Given the description of an element on the screen output the (x, y) to click on. 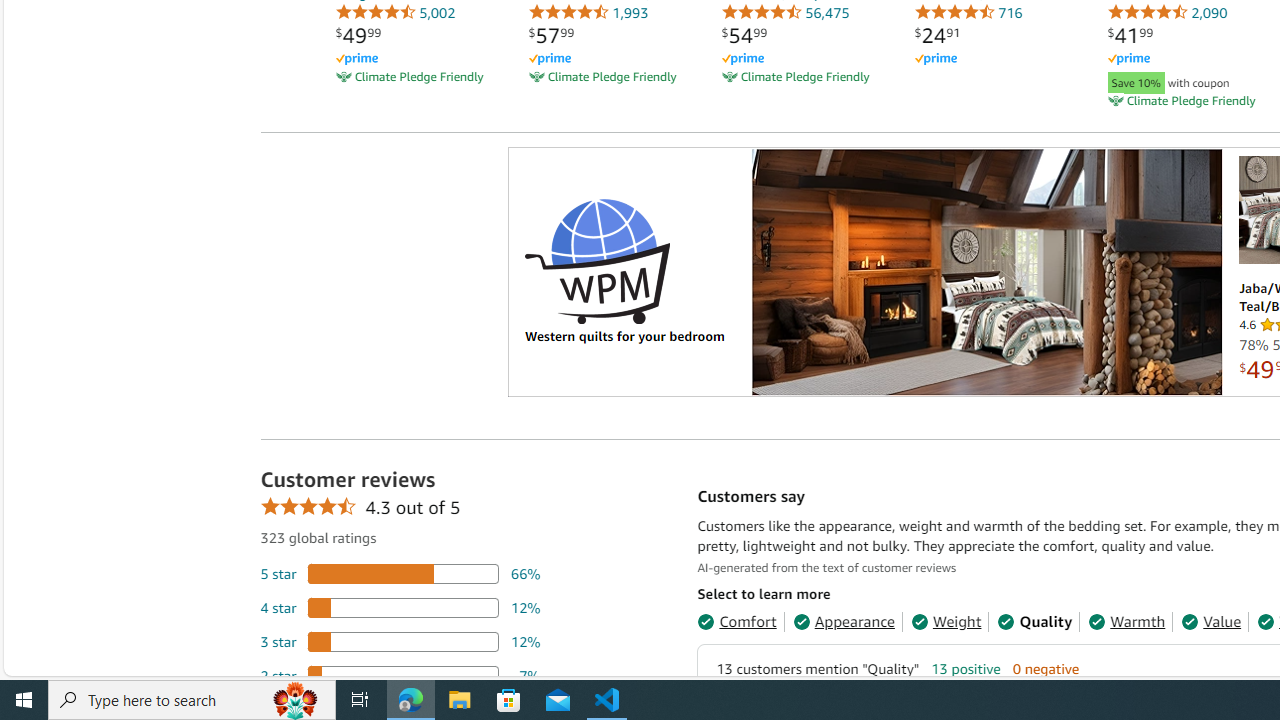
Comfort (736, 621)
2,090 (1167, 12)
$54.99 (744, 35)
12 percent of reviews have 3 stars (400, 641)
5,002 (395, 12)
7 percent of reviews have 2 stars (400, 675)
Amazon Prime (1128, 59)
Save 10% with coupon (1187, 79)
Appearance (843, 621)
Amazon Prime (1187, 58)
716 (967, 12)
1,993 (587, 12)
$24.91 (937, 35)
Weight (945, 621)
